Given the description of an element on the screen output the (x, y) to click on. 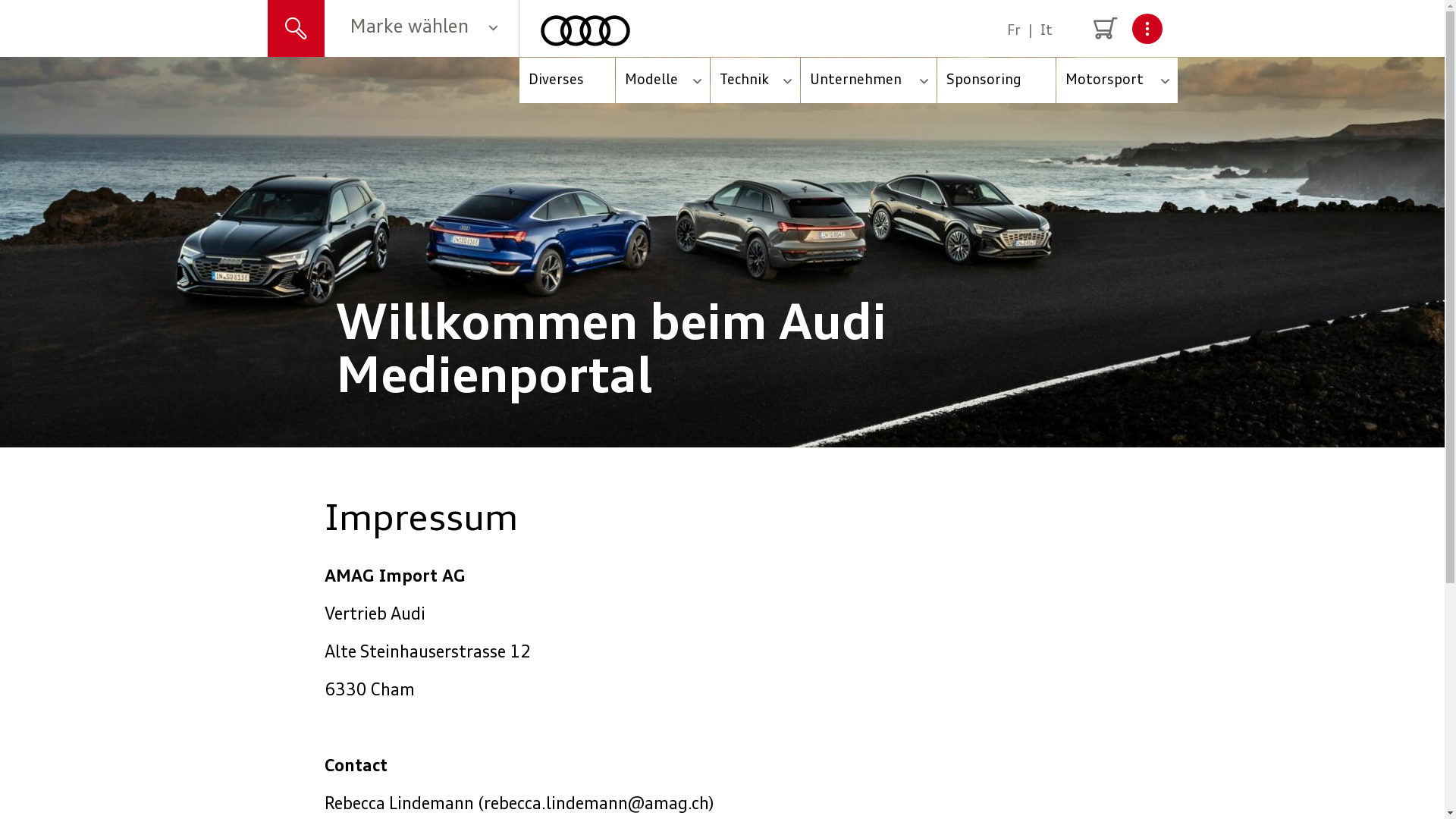
rebecca.lindemann@amag.ch Element type: text (595, 804)
Sponsoring Element type: text (995, 80)
Fr Element type: text (1013, 30)
Technik Element type: text (755, 80)
Suche Element type: text (295, 30)
Diverses Element type: text (566, 80)
Direkt zum Inhalt Element type: text (0, 56)
Modelle Element type: text (662, 80)
Motorsport Element type: text (1116, 80)
Unternehmen Element type: text (868, 80)
It Element type: text (1046, 30)
